Given the description of an element on the screen output the (x, y) to click on. 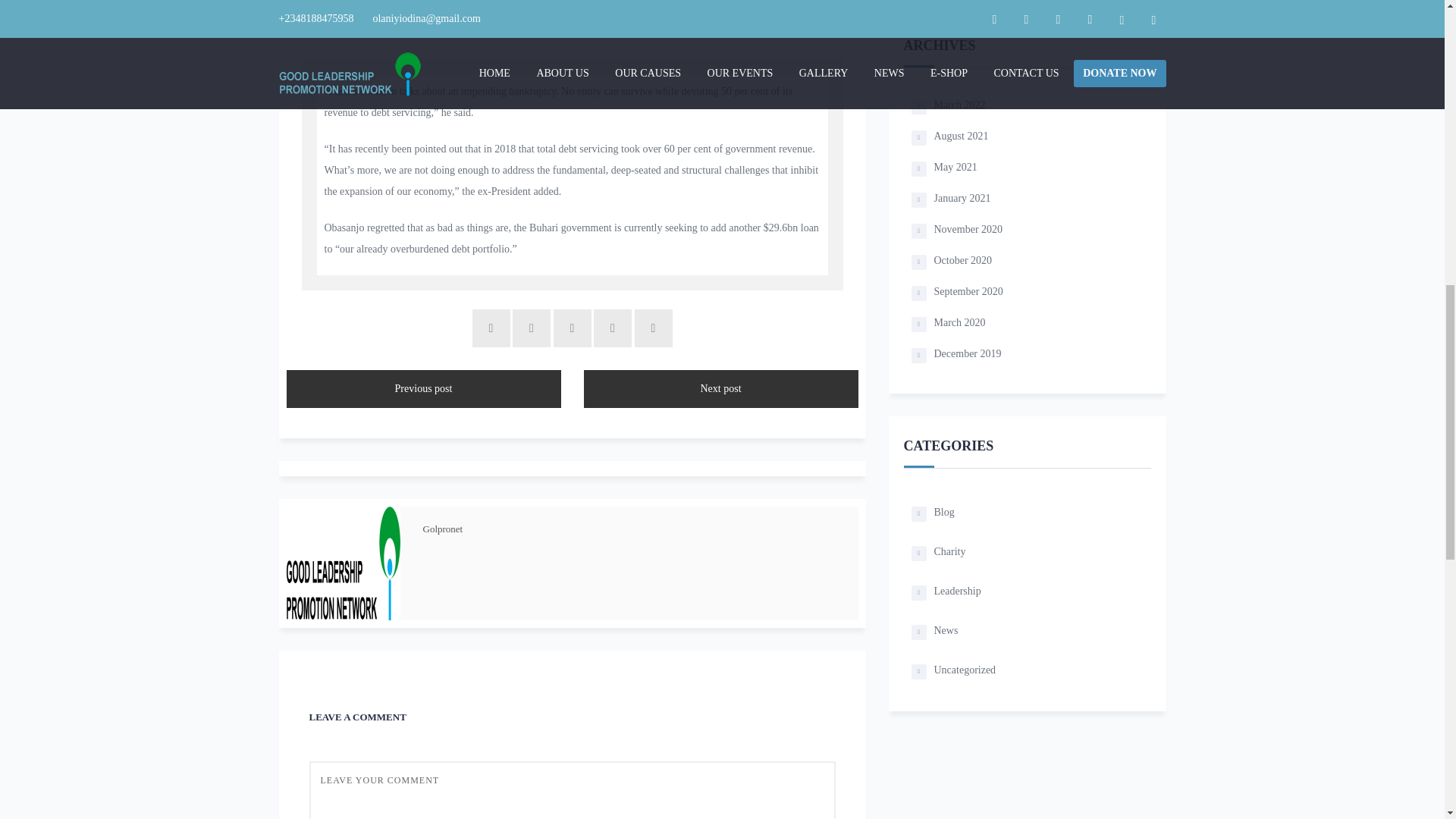
Next post (721, 388)
Previous post (423, 388)
Golpronet (443, 528)
